Given the description of an element on the screen output the (x, y) to click on. 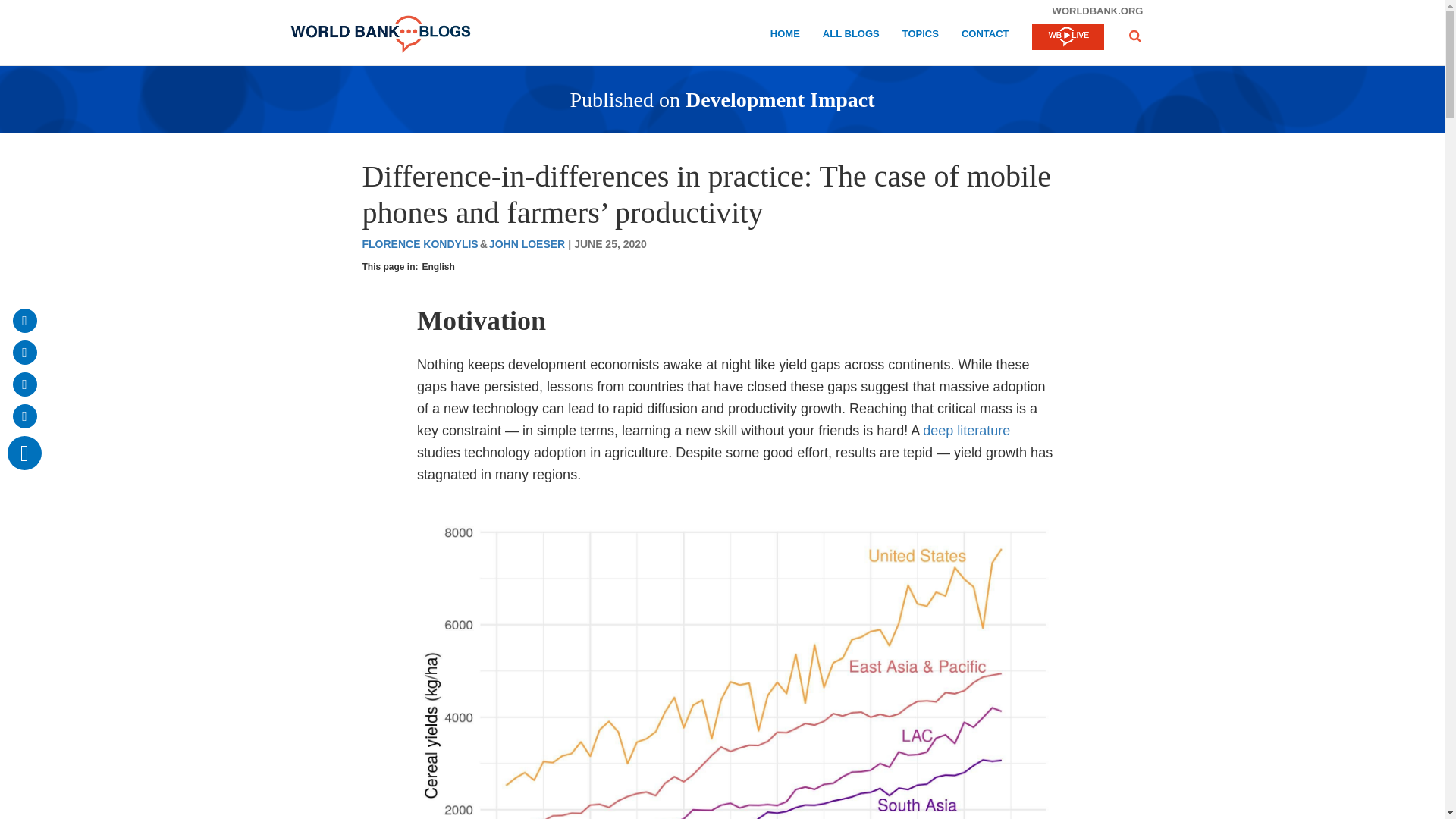
English (438, 267)
JOHN LOESER (526, 244)
TOPICS (920, 37)
WB LIVE LOGO (1066, 37)
World Bank Blogs Logo (379, 34)
WB Live Logo (1066, 36)
WORLDBANK.ORG (1097, 10)
ALL BLOGS (850, 37)
linkedln (23, 416)
SEARCH (1134, 44)
FLORENCE KONDYLIS (419, 244)
Email (23, 320)
comment (24, 452)
Facebook (23, 352)
